Given the description of an element on the screen output the (x, y) to click on. 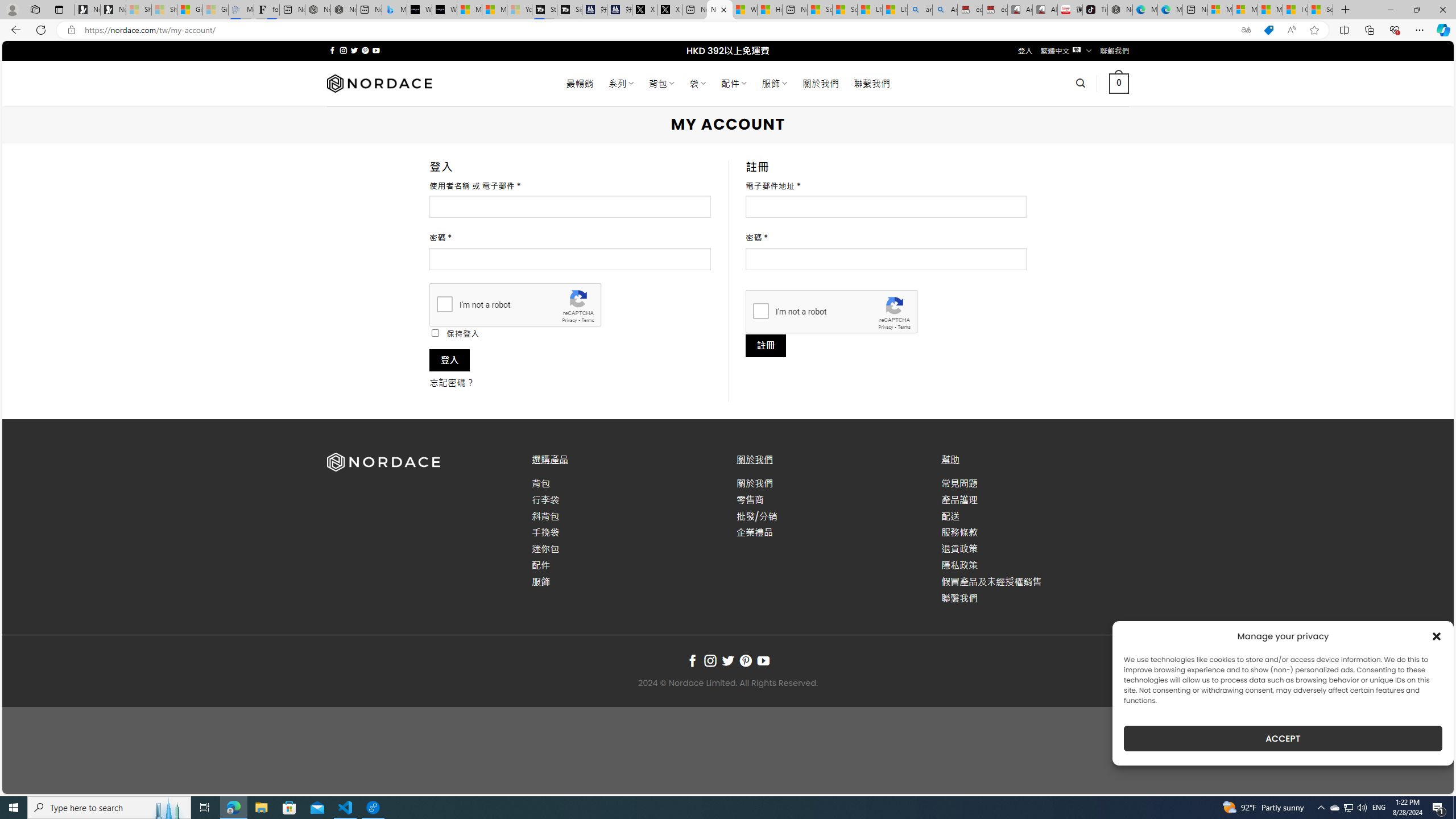
This site has coupons! Shopping in Microsoft Edge (1268, 29)
Microsoft Start Sports (469, 9)
ACCEPT (1283, 738)
 0  (1118, 83)
